Given the description of an element on the screen output the (x, y) to click on. 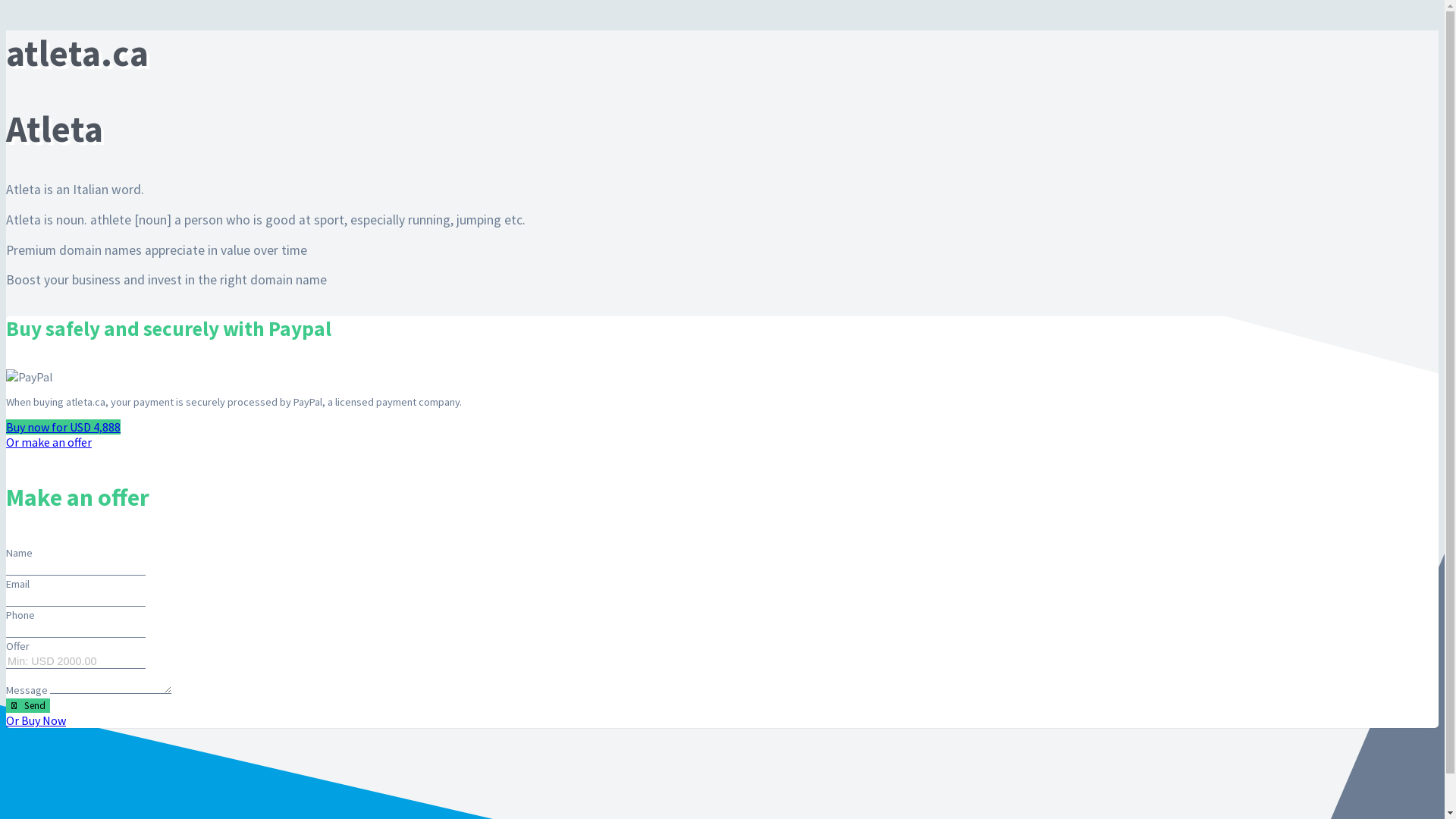
Buy now for USD 4,888 Element type: text (63, 426)
Or make an offer Element type: text (48, 441)
Or Buy Now Element type: text (35, 720)
